Given the description of an element on the screen output the (x, y) to click on. 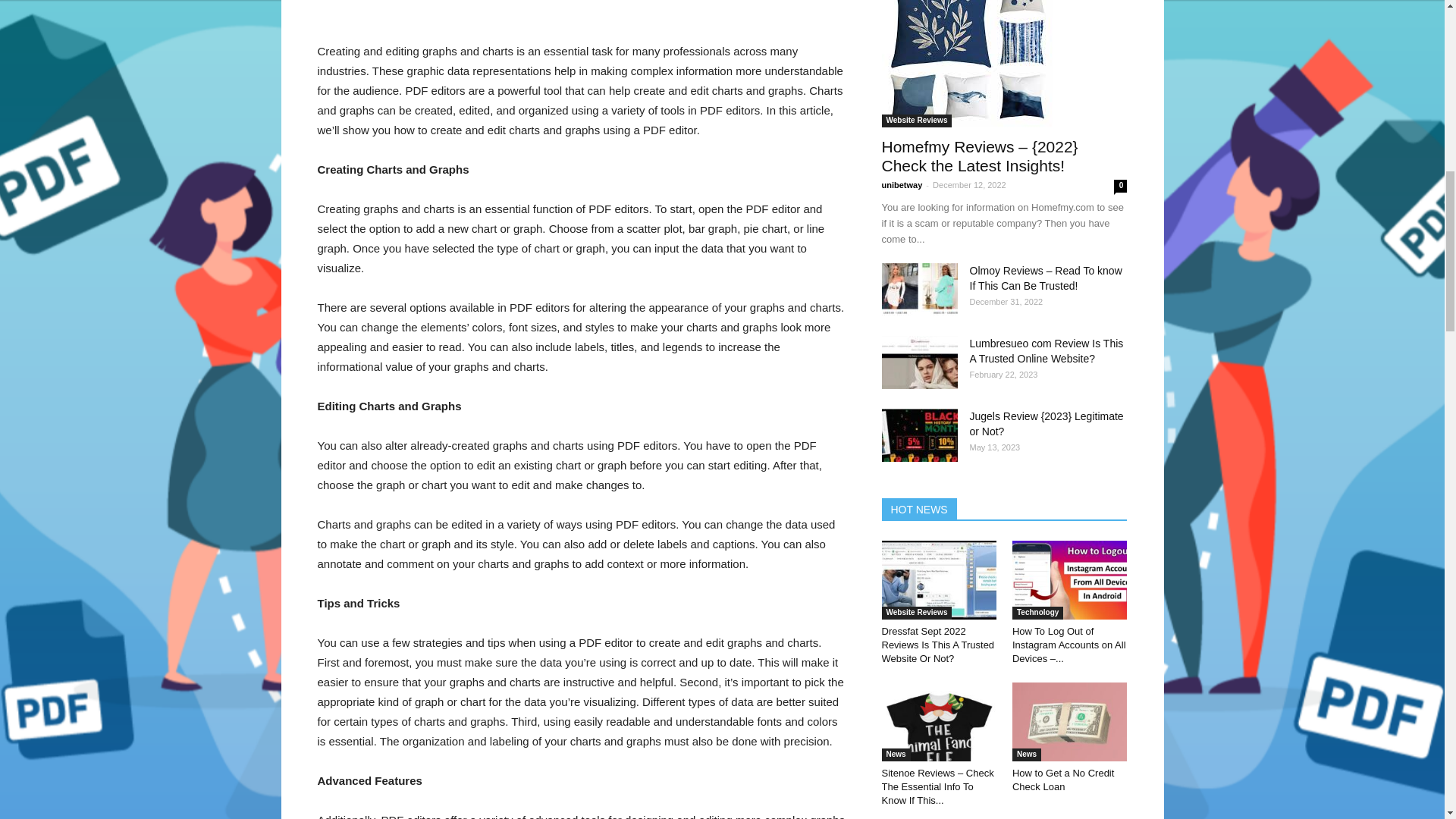
Advertisement (580, 2)
